Given the description of an element on the screen output the (x, y) to click on. 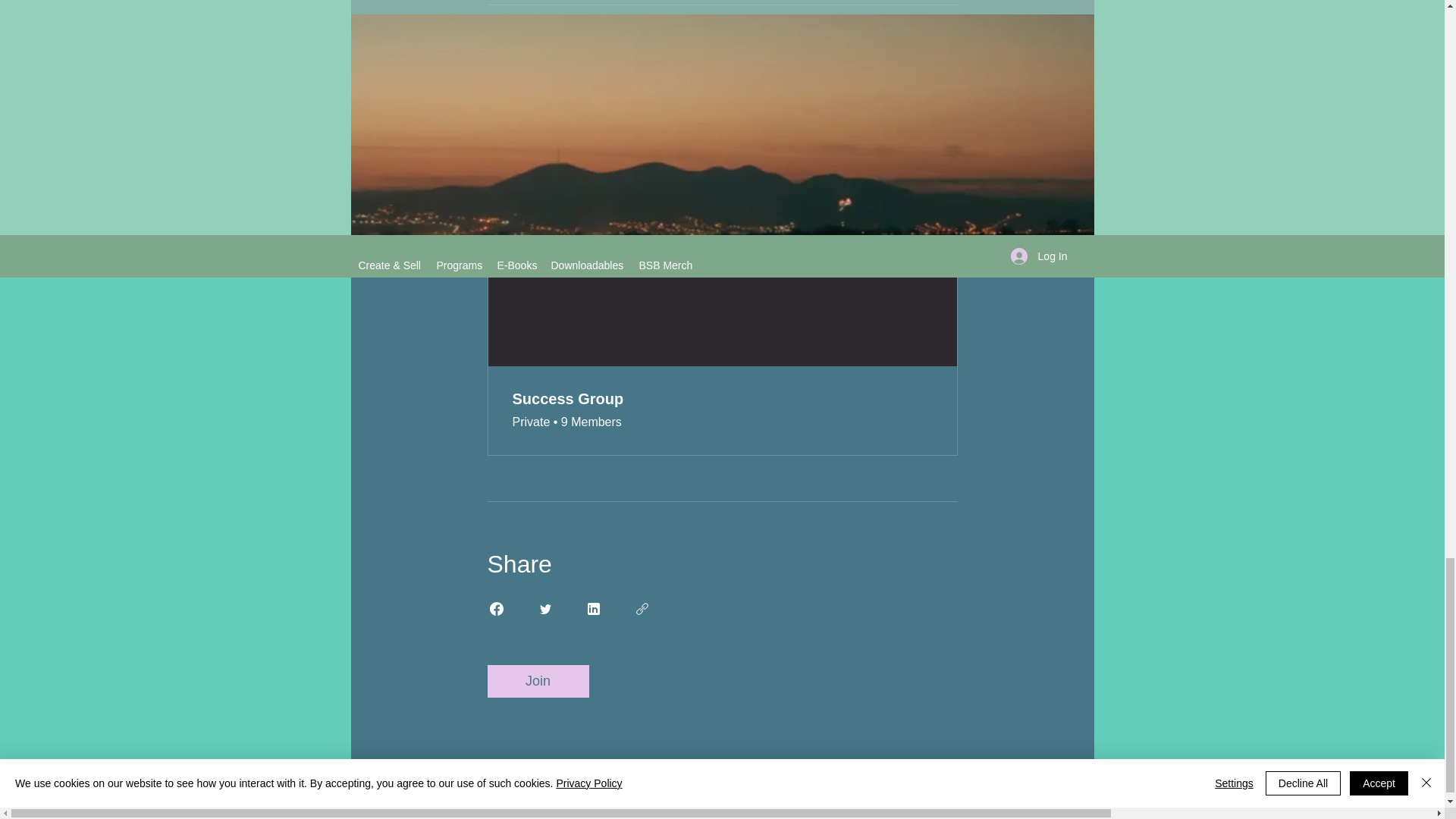
Join (537, 681)
